Given the description of an element on the screen output the (x, y) to click on. 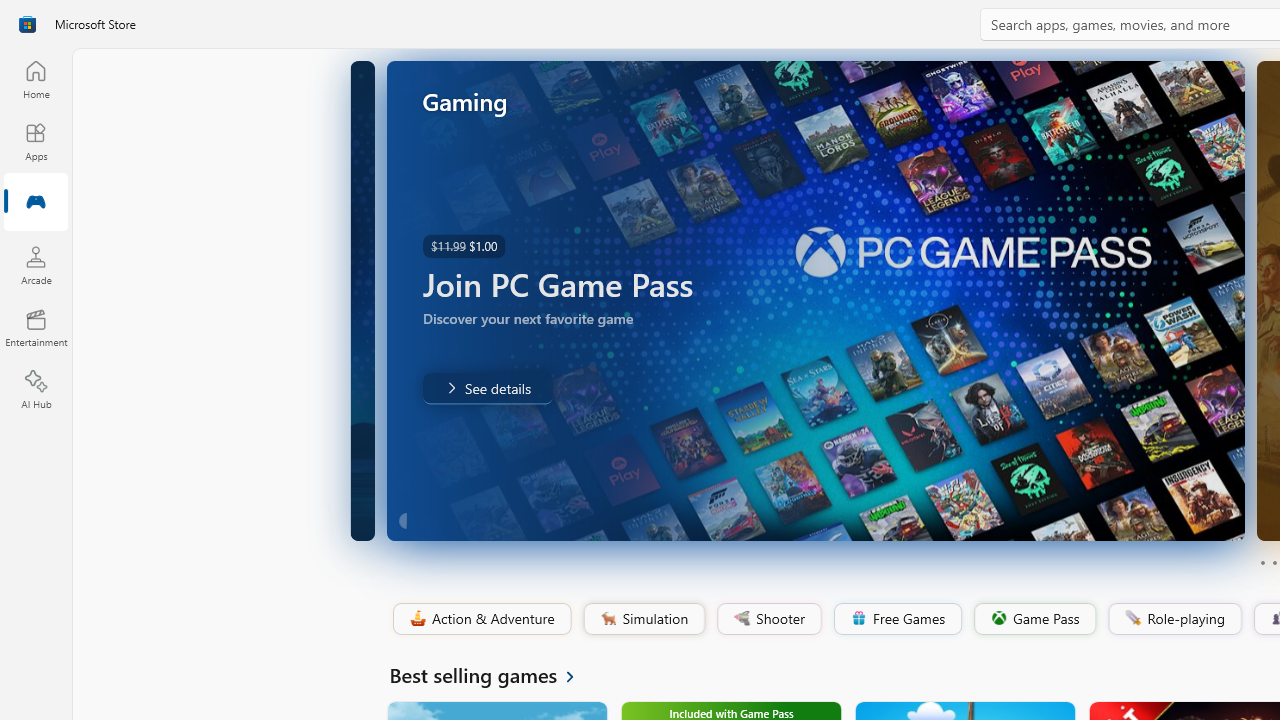
Game Pass (1033, 619)
Page 2 (1274, 562)
Free Games (897, 619)
Simulation (643, 619)
Shooter (767, 619)
AutomationID: Image (815, 300)
Role-playing (1174, 619)
Page 1 (1261, 562)
